Given the description of an element on the screen output the (x, y) to click on. 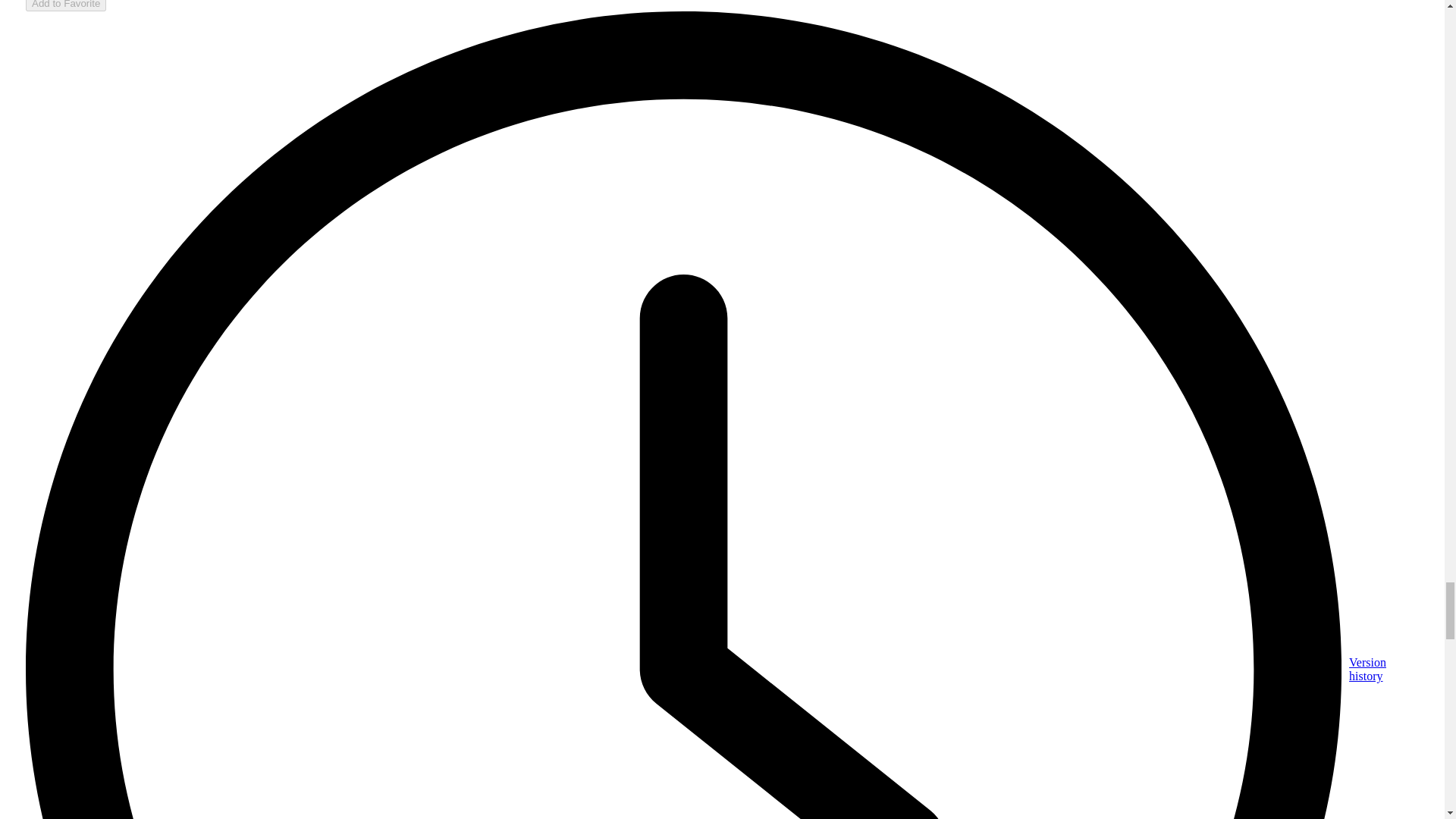
Add to Favorite (66, 5)
